Given the description of an element on the screen output the (x, y) to click on. 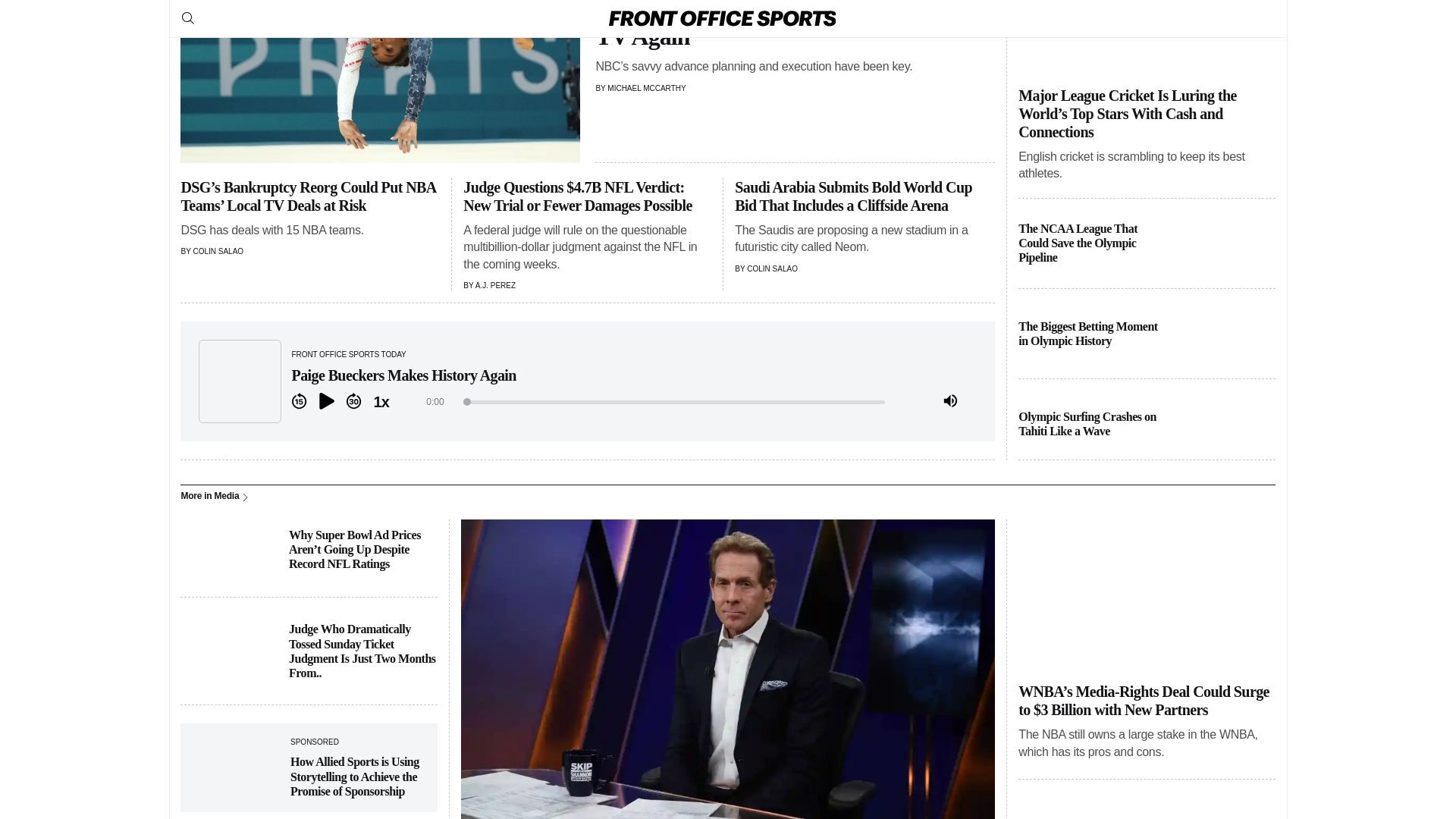
Posts by Colin Salao (771, 268)
Posts by Michael McCarthy (646, 88)
Posts by Colin Salao (217, 251)
Posts by A.J. Perez (495, 285)
